Given the description of an element on the screen output the (x, y) to click on. 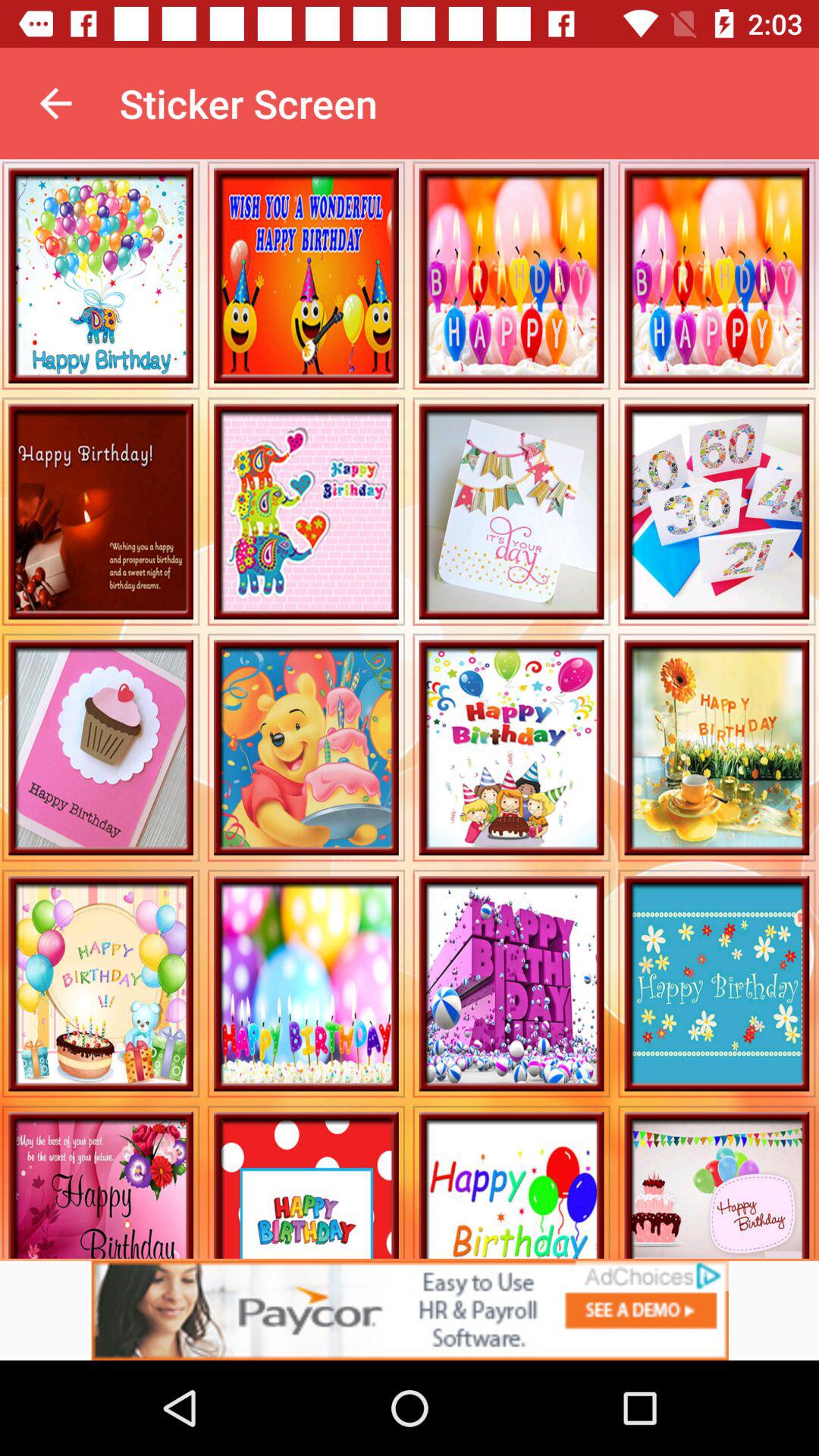
advertisement (409, 1310)
